Given the description of an element on the screen output the (x, y) to click on. 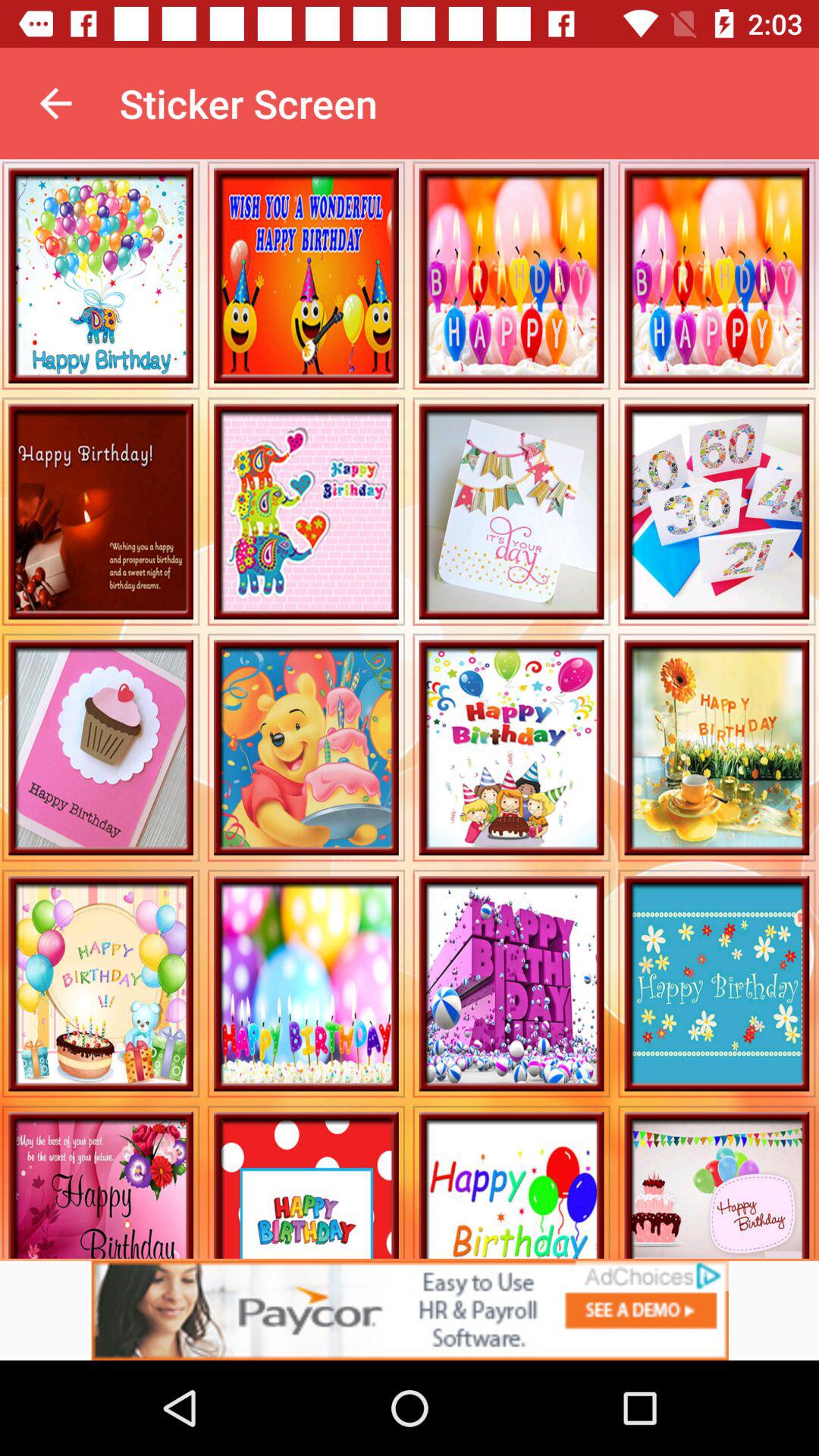
advertisement (409, 1310)
